Given the description of an element on the screen output the (x, y) to click on. 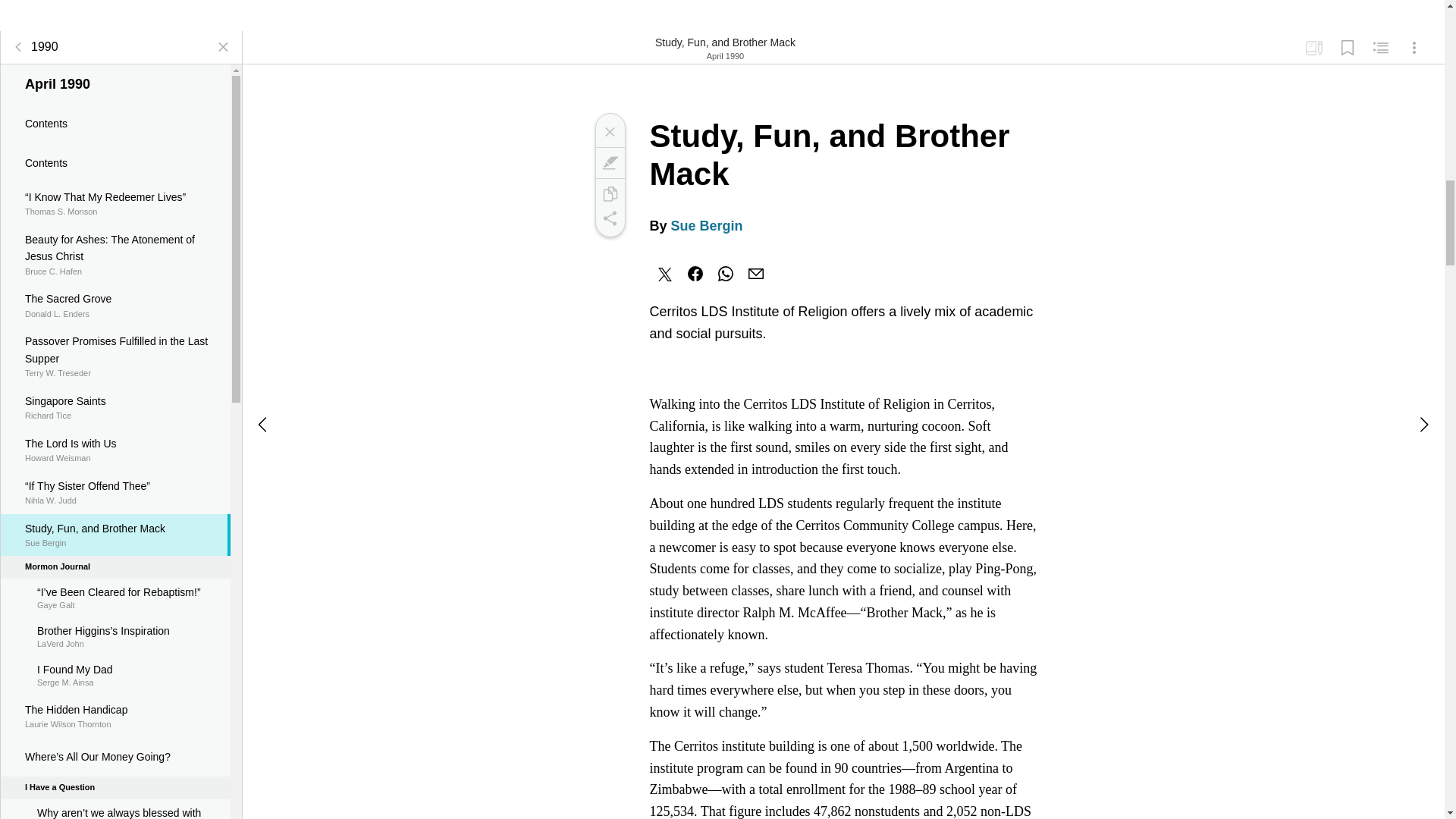
Table of Contents (17, 47)
Share (608, 218)
Options (1414, 47)
Study Sets (1313, 47)
Bookmarks (115, 715)
Close (1347, 47)
1990 (608, 131)
Copy (32, 46)
Contents (115, 675)
